Given the description of an element on the screen output the (x, y) to click on. 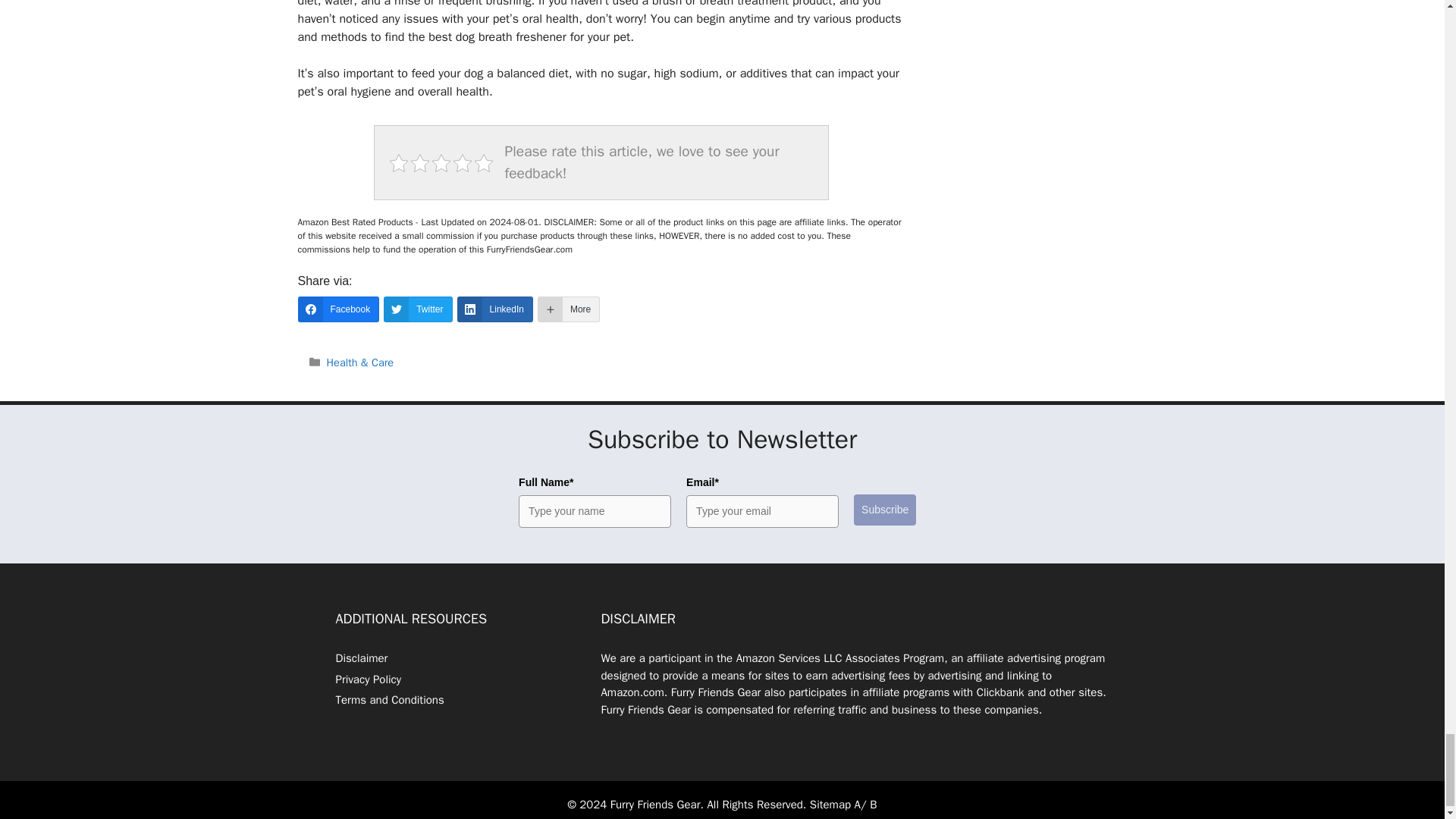
LinkedIn (494, 309)
Facebook (337, 309)
Twitter (417, 309)
